Given the description of an element on the screen output the (x, y) to click on. 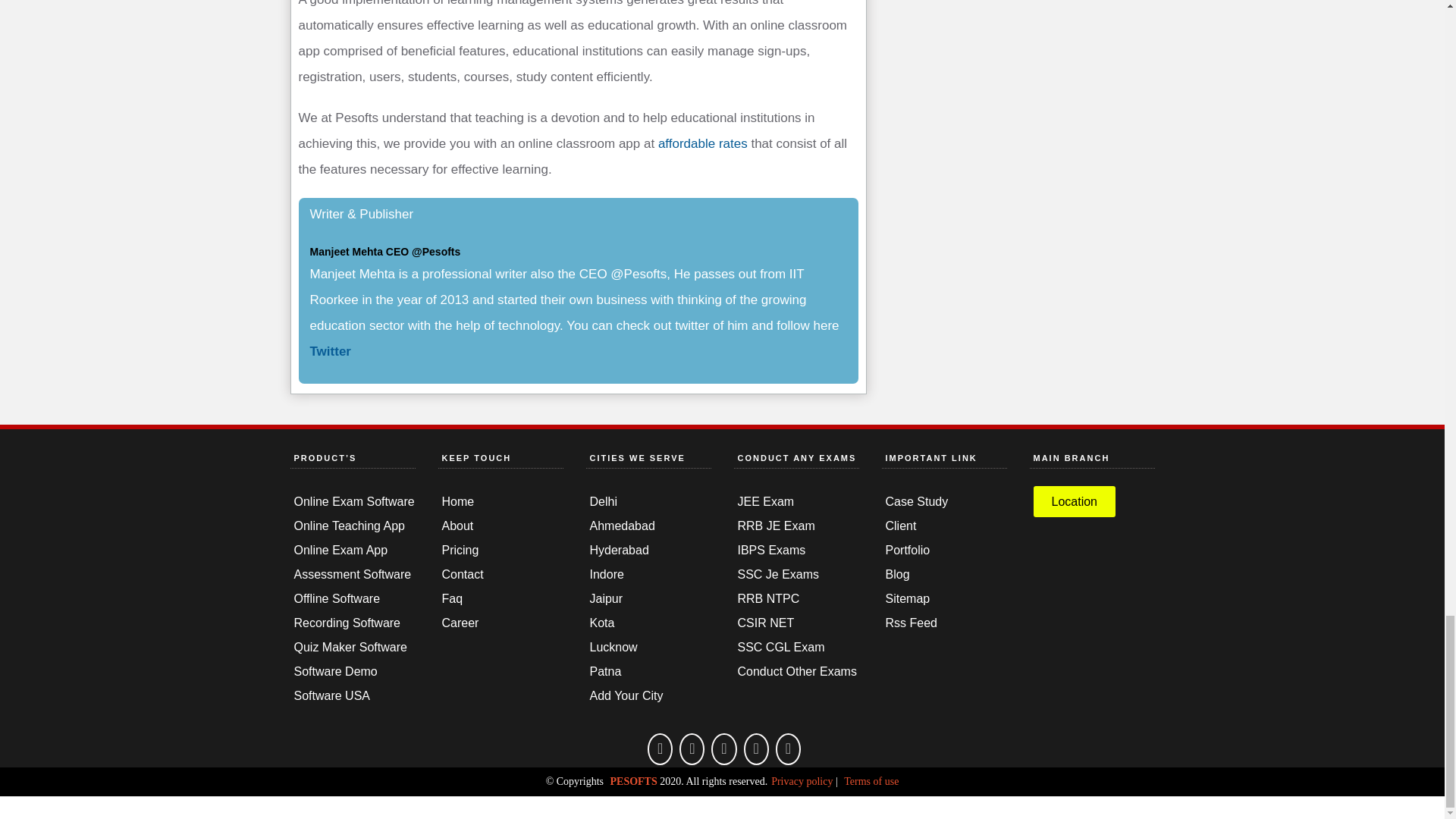
twitter (756, 748)
facebook (659, 748)
instagram (691, 748)
linkedin (788, 748)
youtube (723, 748)
